Given the description of an element on the screen output the (x, y) to click on. 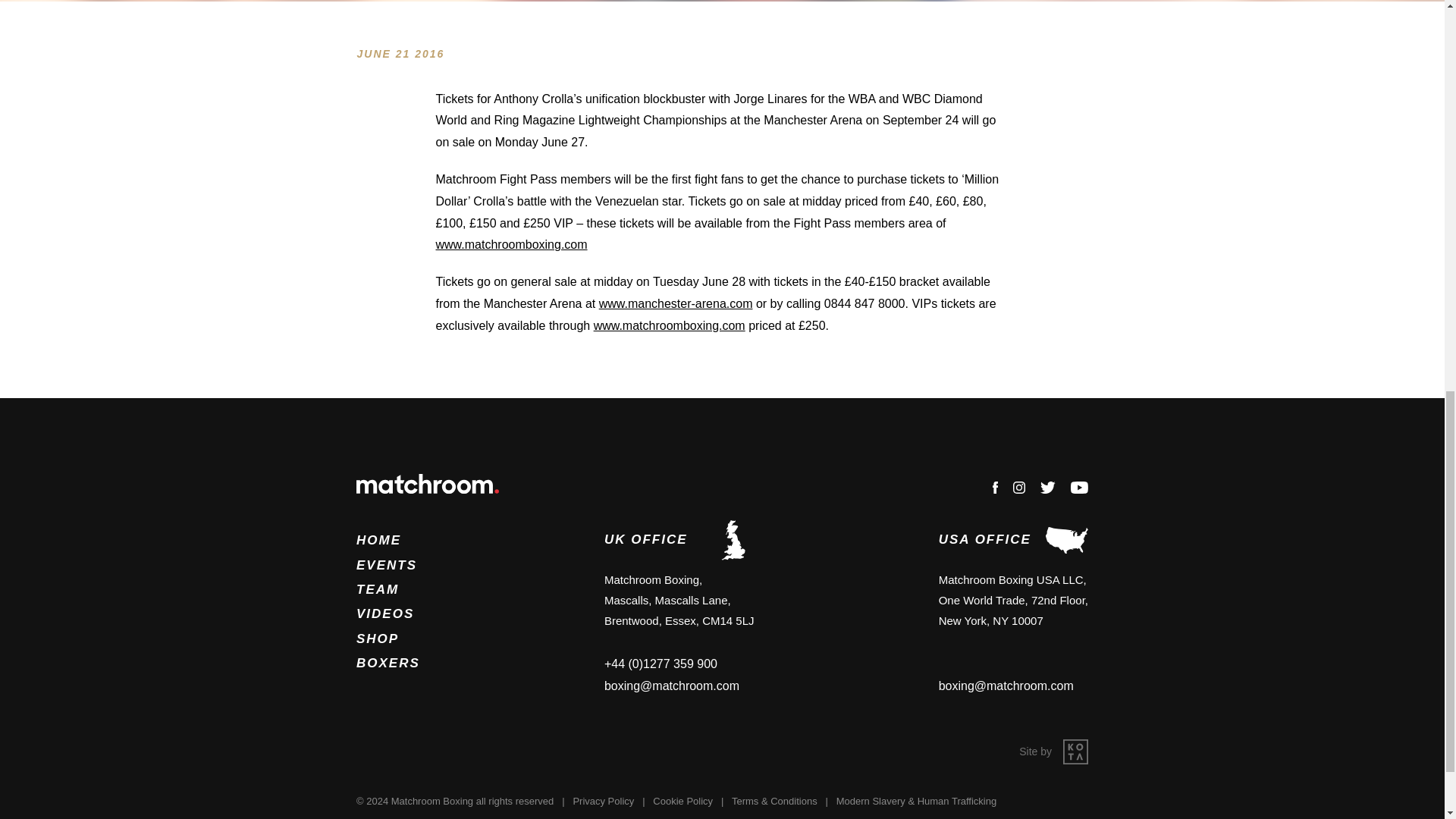
TEAM (377, 589)
EVENTS (386, 564)
www.matchroomboxing.com (669, 325)
www.manchester-arena.com (675, 303)
BOXERS (388, 663)
www.matchroomboxing.com (510, 244)
HOME (378, 540)
SHOP (377, 638)
VIDEOS (384, 613)
